Given the description of an element on the screen output the (x, y) to click on. 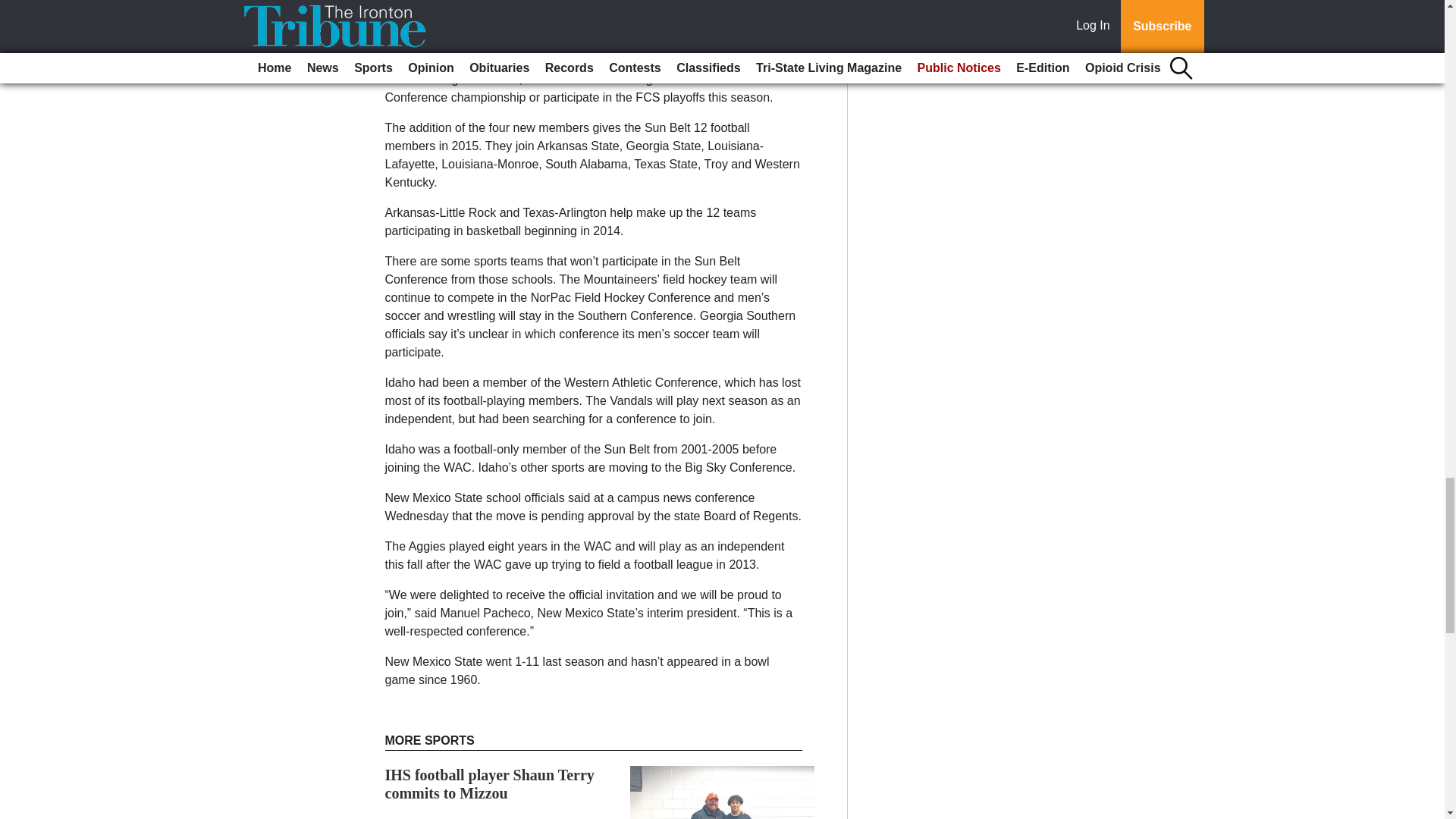
IHS football player Shaun Terry commits to Mizzou (489, 783)
IHS football player Shaun Terry commits to Mizzou (489, 783)
